Given the description of an element on the screen output the (x, y) to click on. 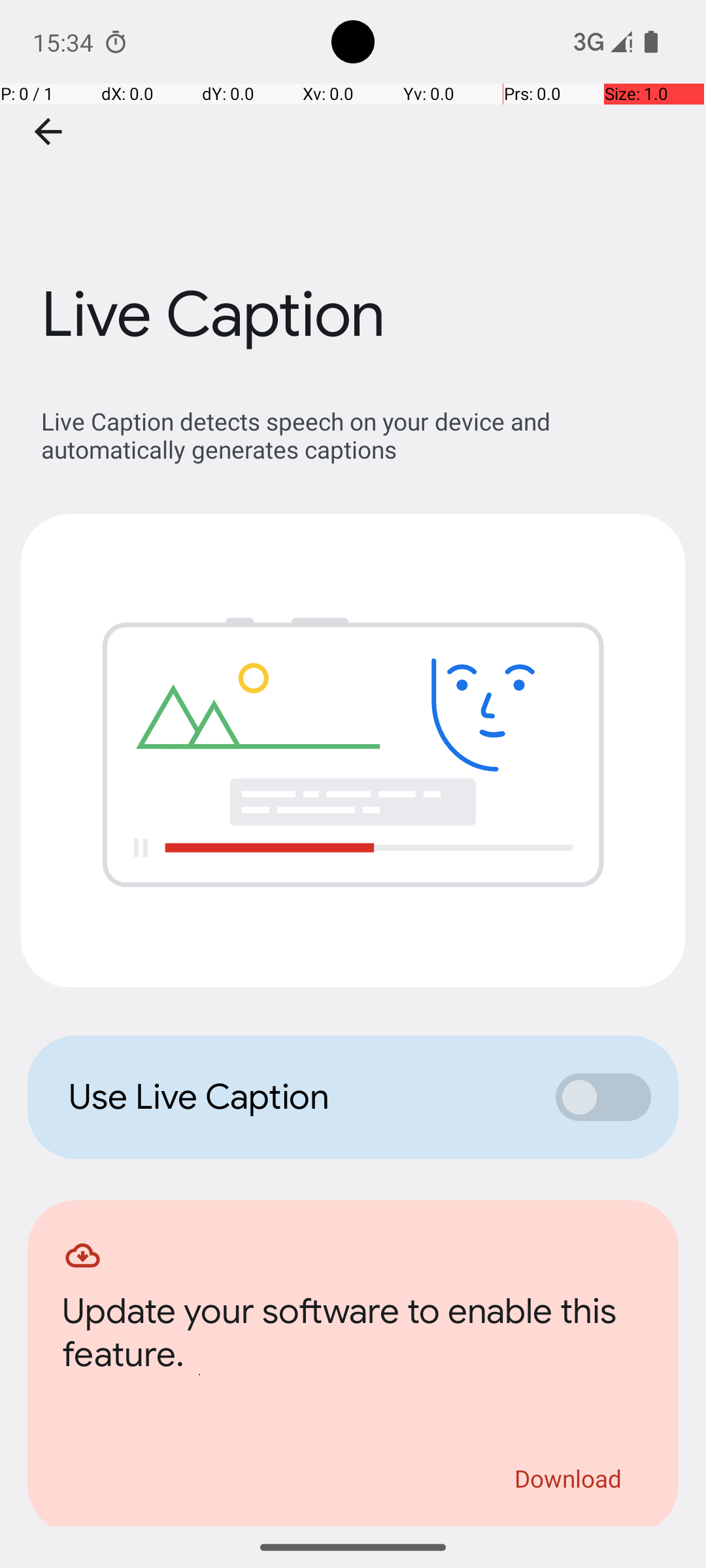
Update your software to enable this feature. Element type: android.widget.TextView (352, 1336)
